Given the description of an element on the screen output the (x, y) to click on. 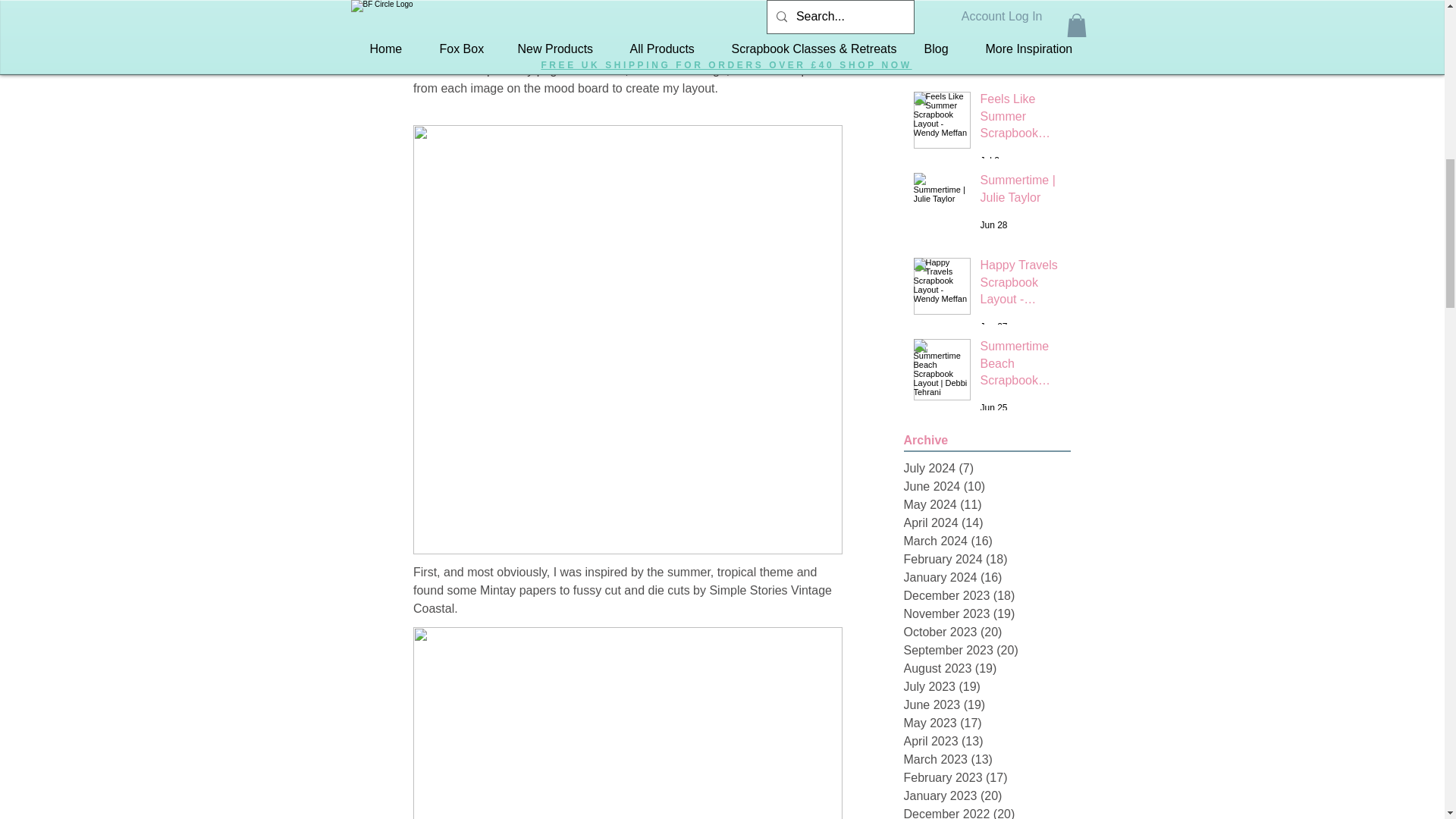
Jun 28 (993, 225)
Jun 27 (993, 326)
Jul 4 (988, 59)
Jun 25 (993, 407)
Jul 2 (988, 160)
